Given the description of an element on the screen output the (x, y) to click on. 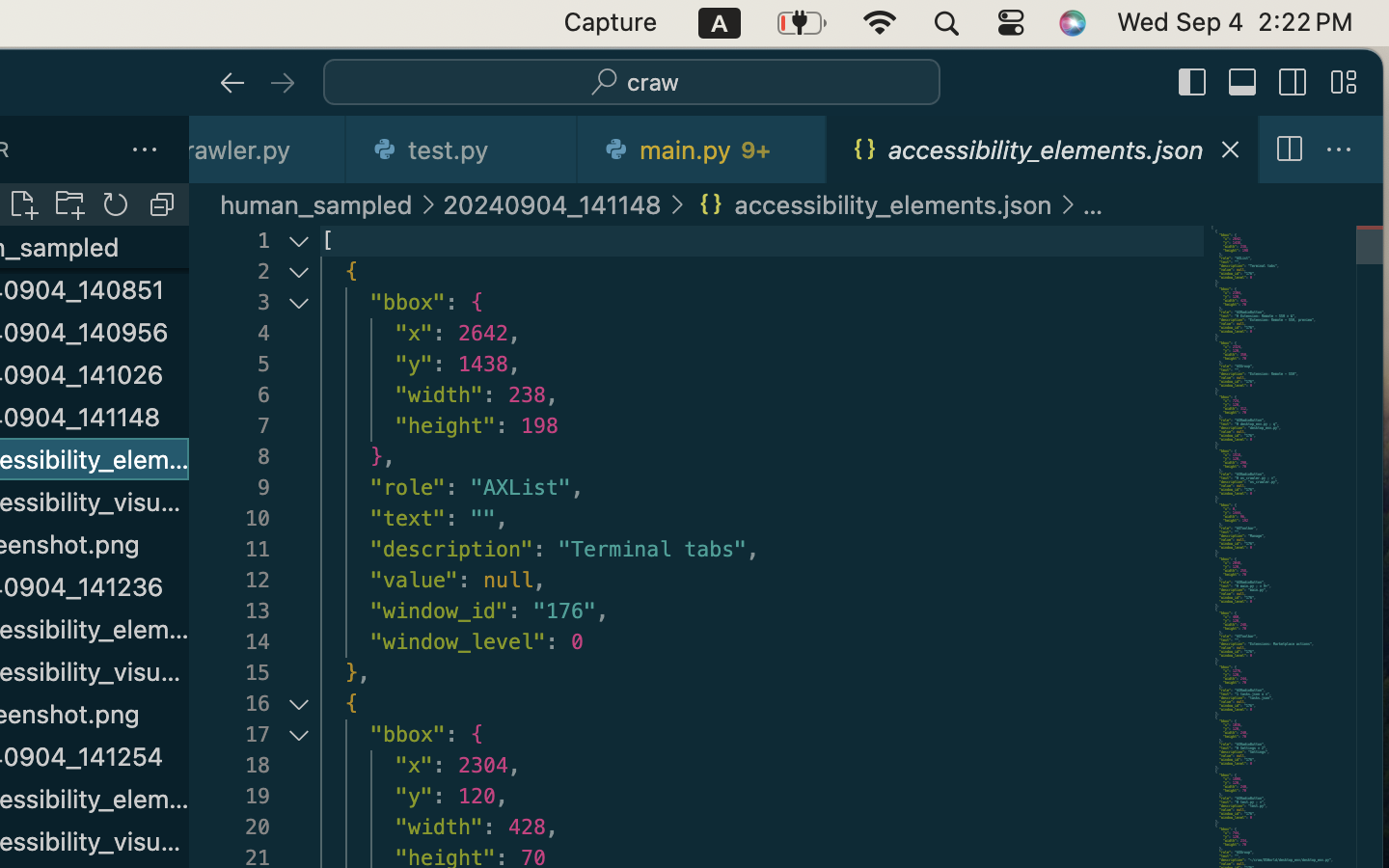
 Element type: AXStaticText (1067, 204)
… Element type: AXStaticText (1092, 204)
accessibility_elements.json  Element type: AXGroup (872, 204)
 Element type: AXCheckBox (1293, 82)
 Element type: AXButton (1288, 150)
